Given the description of an element on the screen output the (x, y) to click on. 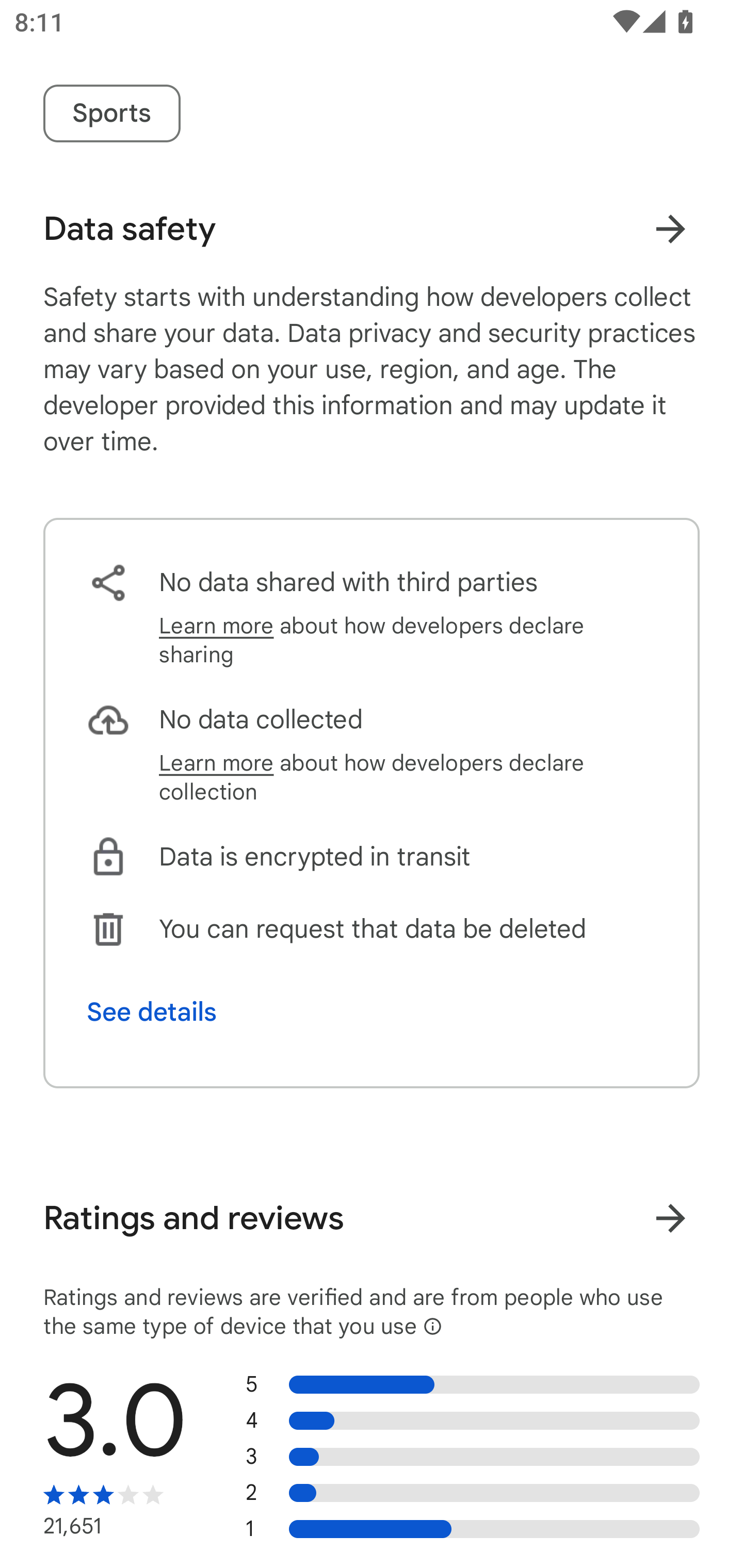
Sports tag (111, 113)
Data safety Learn more about data safety (371, 228)
Learn more about data safety (670, 228)
Learn more about how developers declare sharing (407, 640)
Learn more about how developers declare collection (407, 777)
See details (151, 1012)
Ratings and reviews View all ratings and reviews (371, 1218)
View all ratings and reviews (670, 1218)
